Given the description of an element on the screen output the (x, y) to click on. 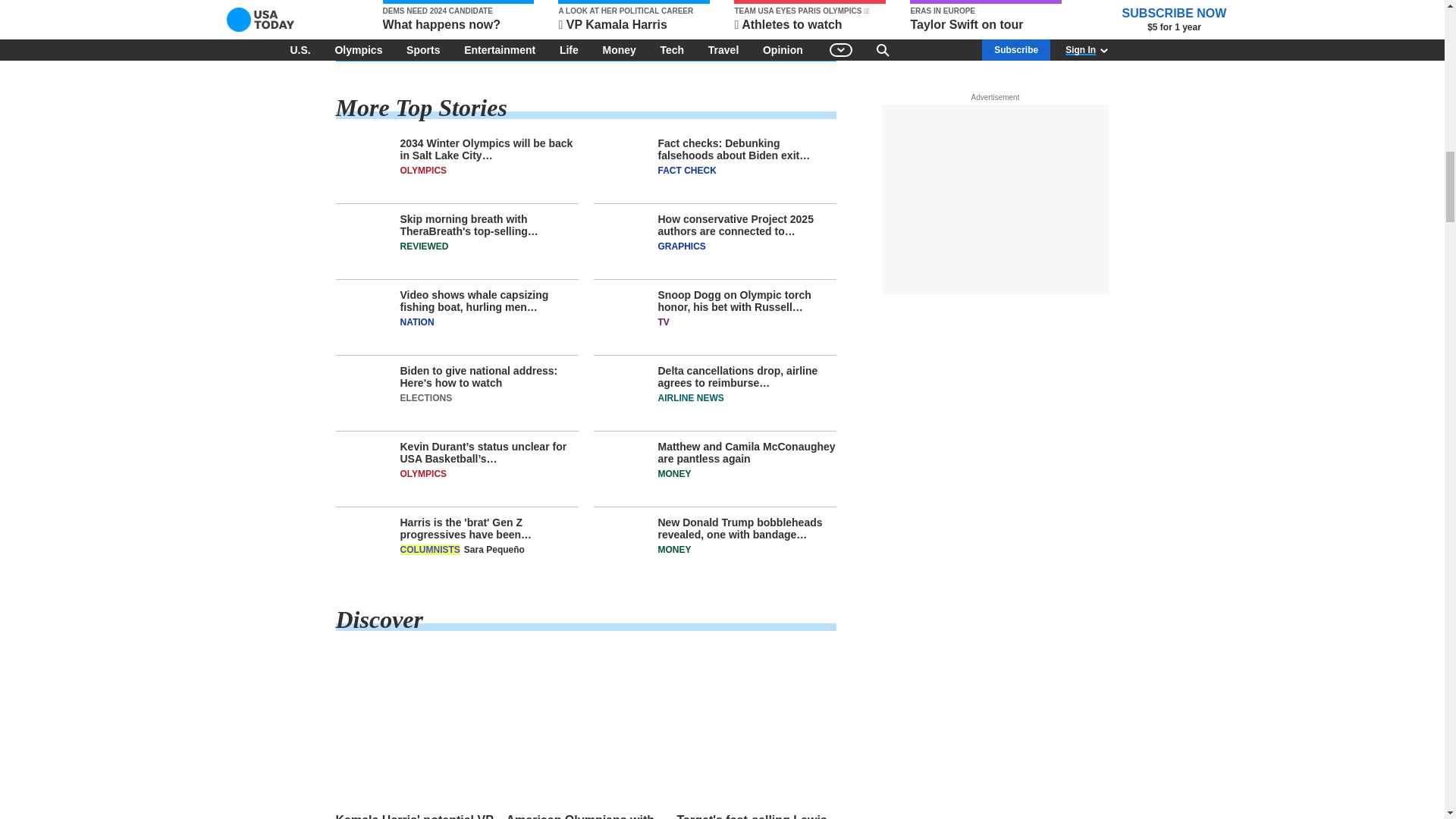
How conservative Project 2025 authors are connected to Trump (713, 246)
